Given the description of an element on the screen output the (x, y) to click on. 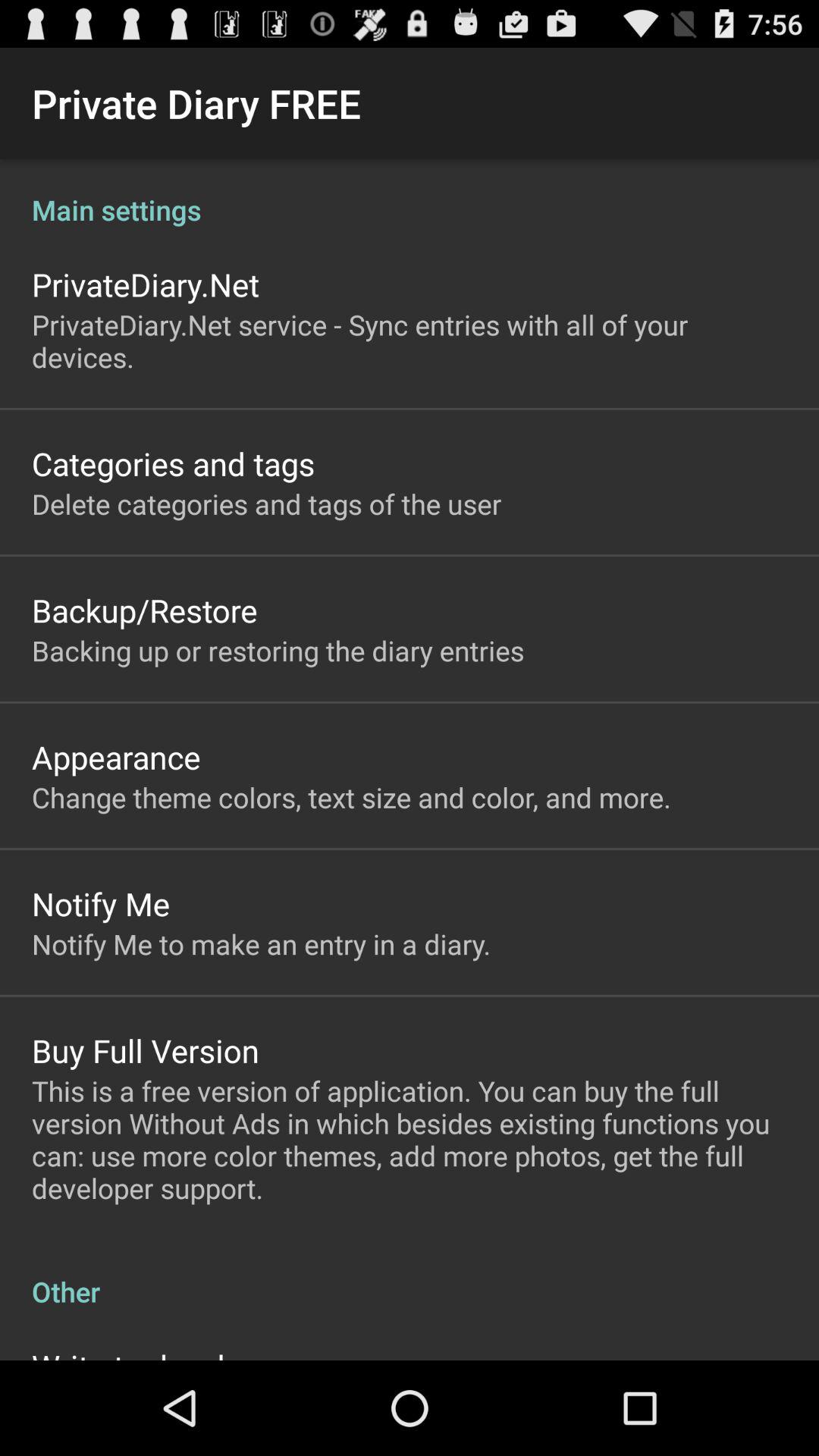
select app below backup/restore app (277, 650)
